Given the description of an element on the screen output the (x, y) to click on. 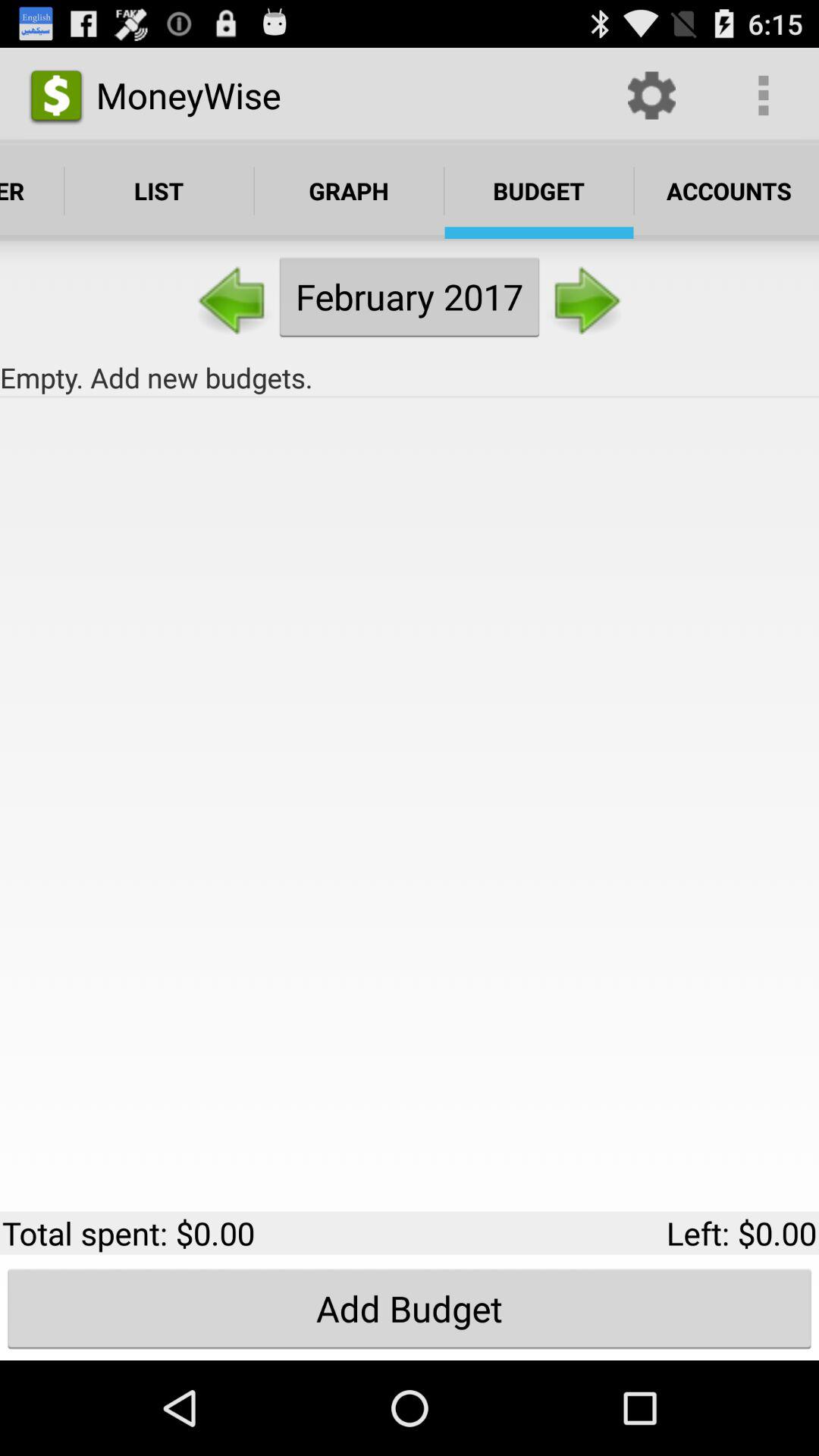
turn on the button to the right of the february 2017 item (584, 296)
